Given the description of an element on the screen output the (x, y) to click on. 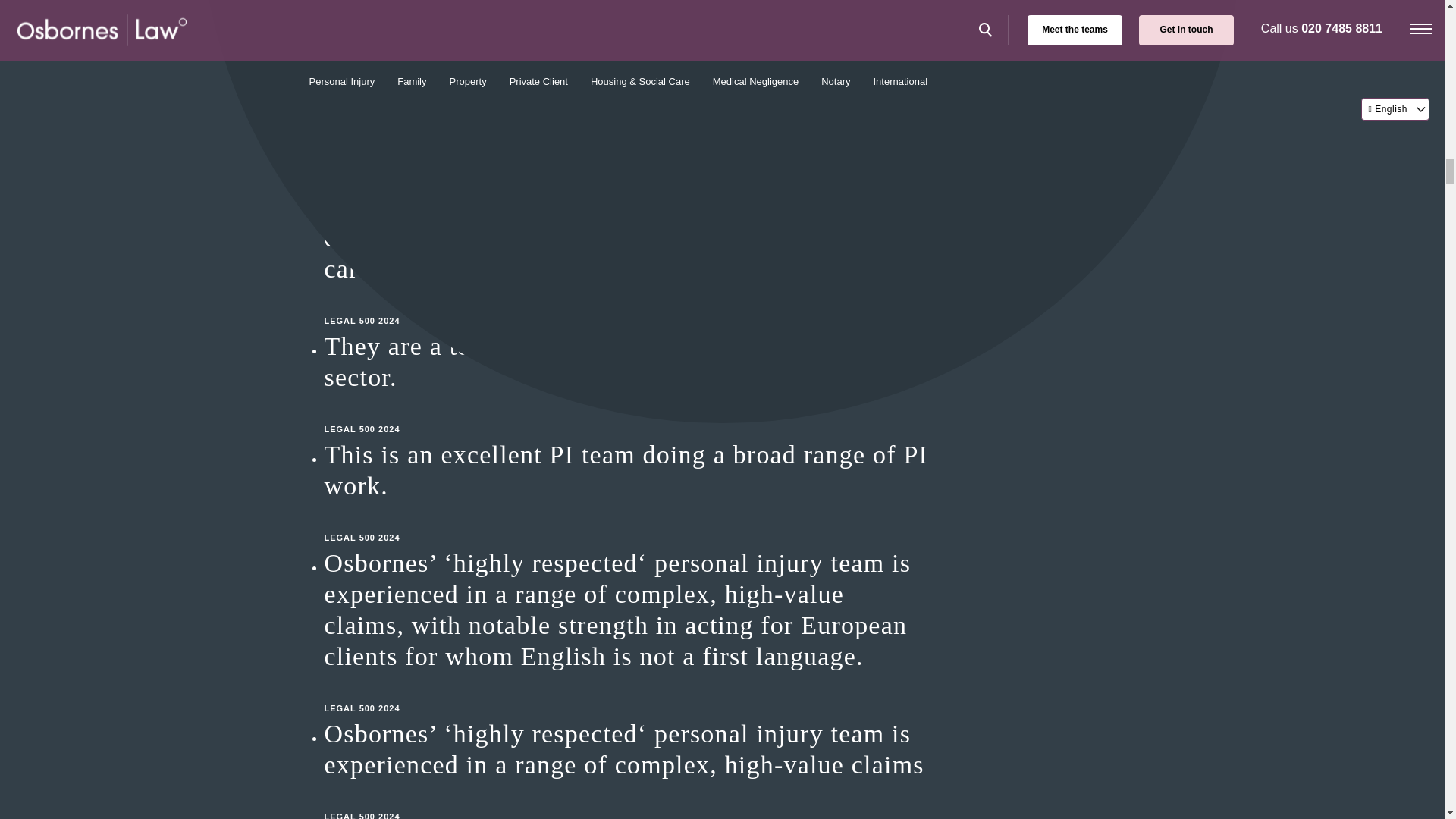
CHAMBERS UK 2024 (627, 134)
LEGAL 500 2024 (627, 799)
They are a team who are highly respected in the PI sector. (627, 361)
LEGAL 500 2024 (627, 305)
This is an excellent PI team doing a broad range of PI work. (627, 469)
CHAMBERS UK 2024 (627, 8)
LEGAL 500 2024 (627, 692)
LEGAL 500 2024 (627, 413)
LEGAL 500 2024 (627, 522)
